Given the description of an element on the screen output the (x, y) to click on. 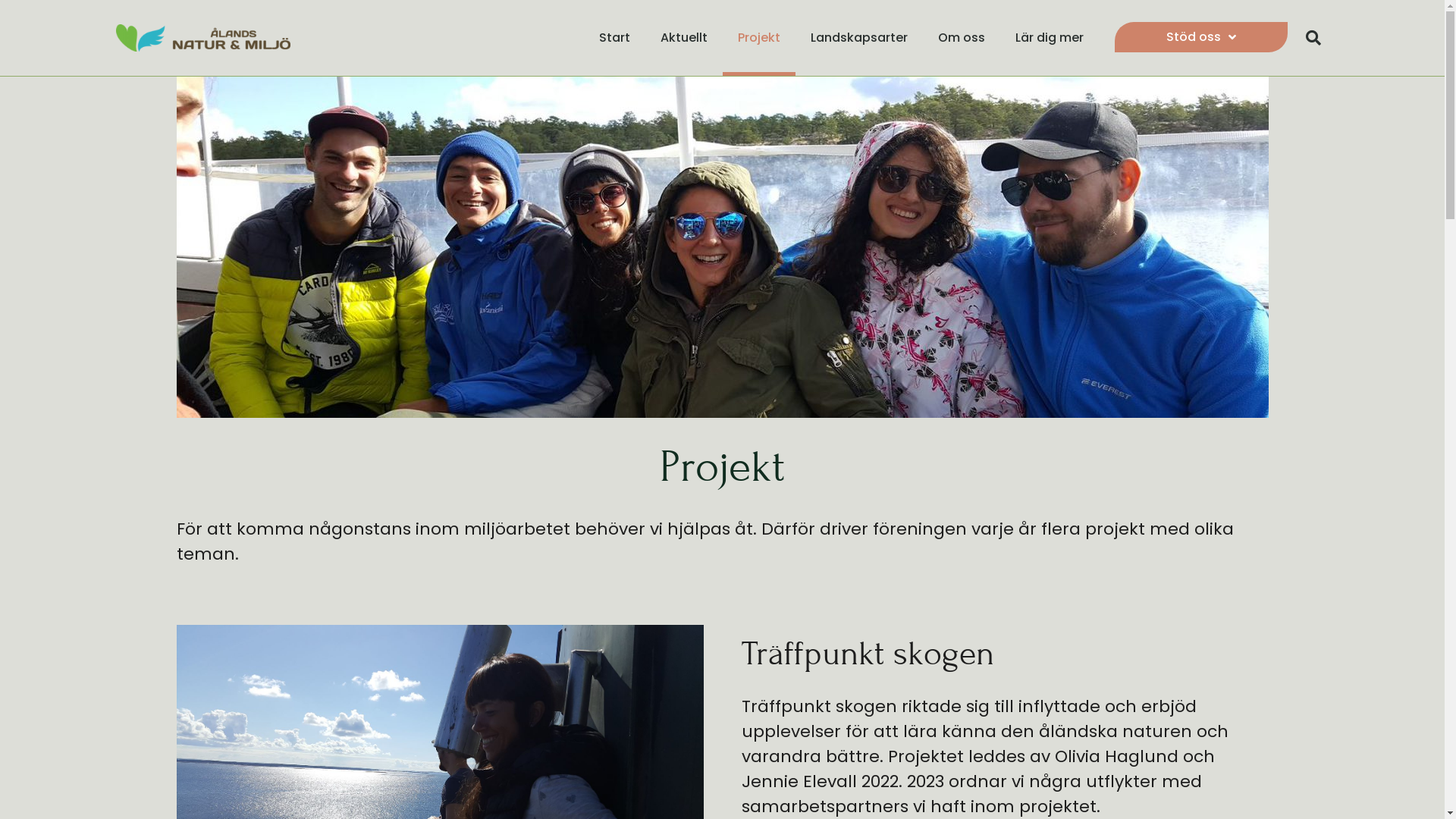
Start Element type: text (614, 37)
Om oss Element type: text (961, 37)
Projekt Element type: text (758, 37)
Aktuellt Element type: text (683, 37)
Landskapsarter Element type: text (858, 37)
